Given the description of an element on the screen output the (x, y) to click on. 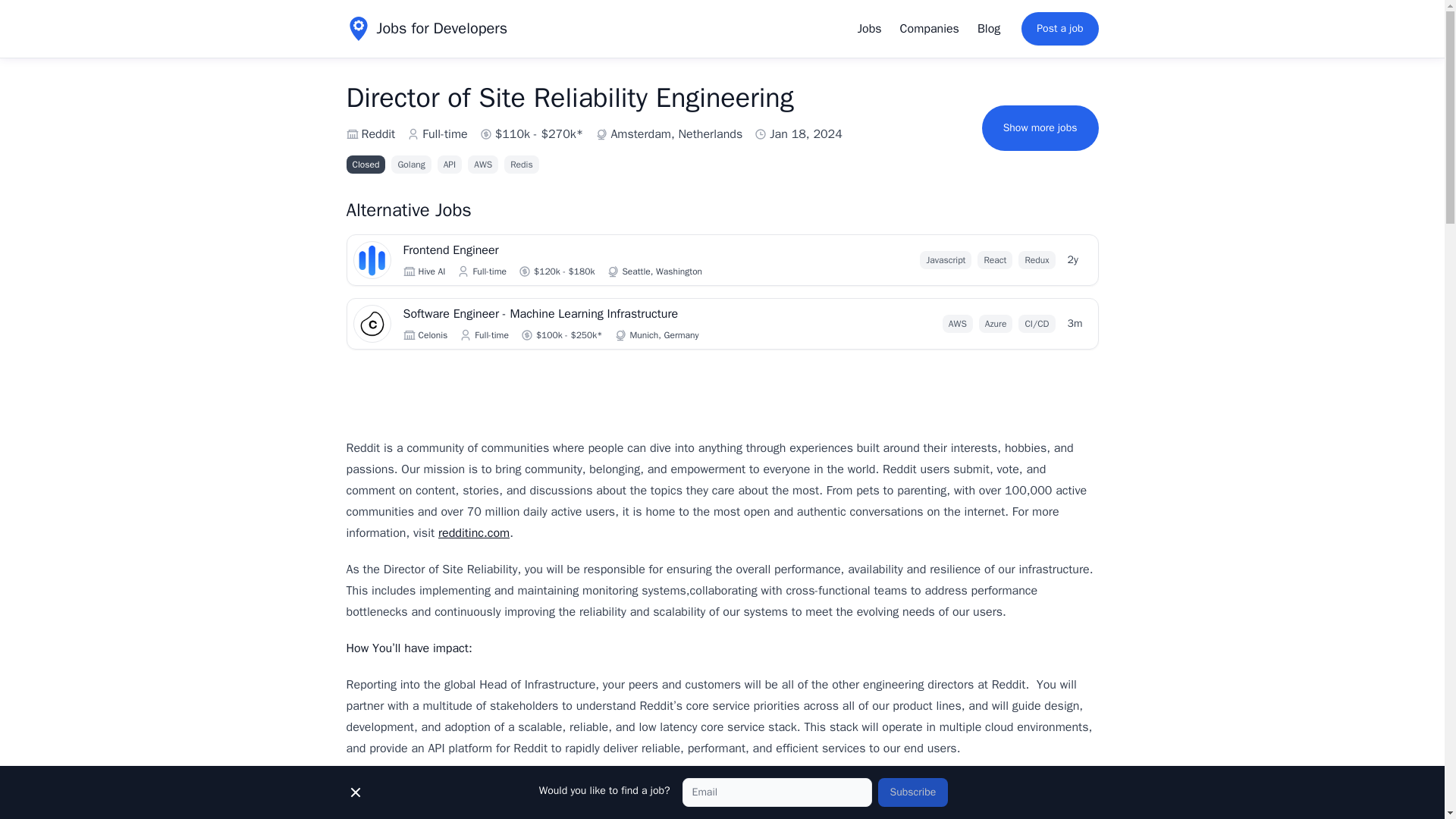
Jobs (869, 28)
Show more jobs (1040, 127)
Hive AI (432, 271)
Celonis (433, 335)
Jobs for Developers (426, 28)
Subscribe (913, 792)
redditinc.com (473, 532)
Munich, Germany (663, 335)
Software Engineer - Machine Learning Infrastructure (593, 313)
Amsterdam, Netherlands (676, 134)
Golang (410, 164)
Azure (995, 323)
Frontend Engineer (593, 249)
API (450, 164)
